Given the description of an element on the screen output the (x, y) to click on. 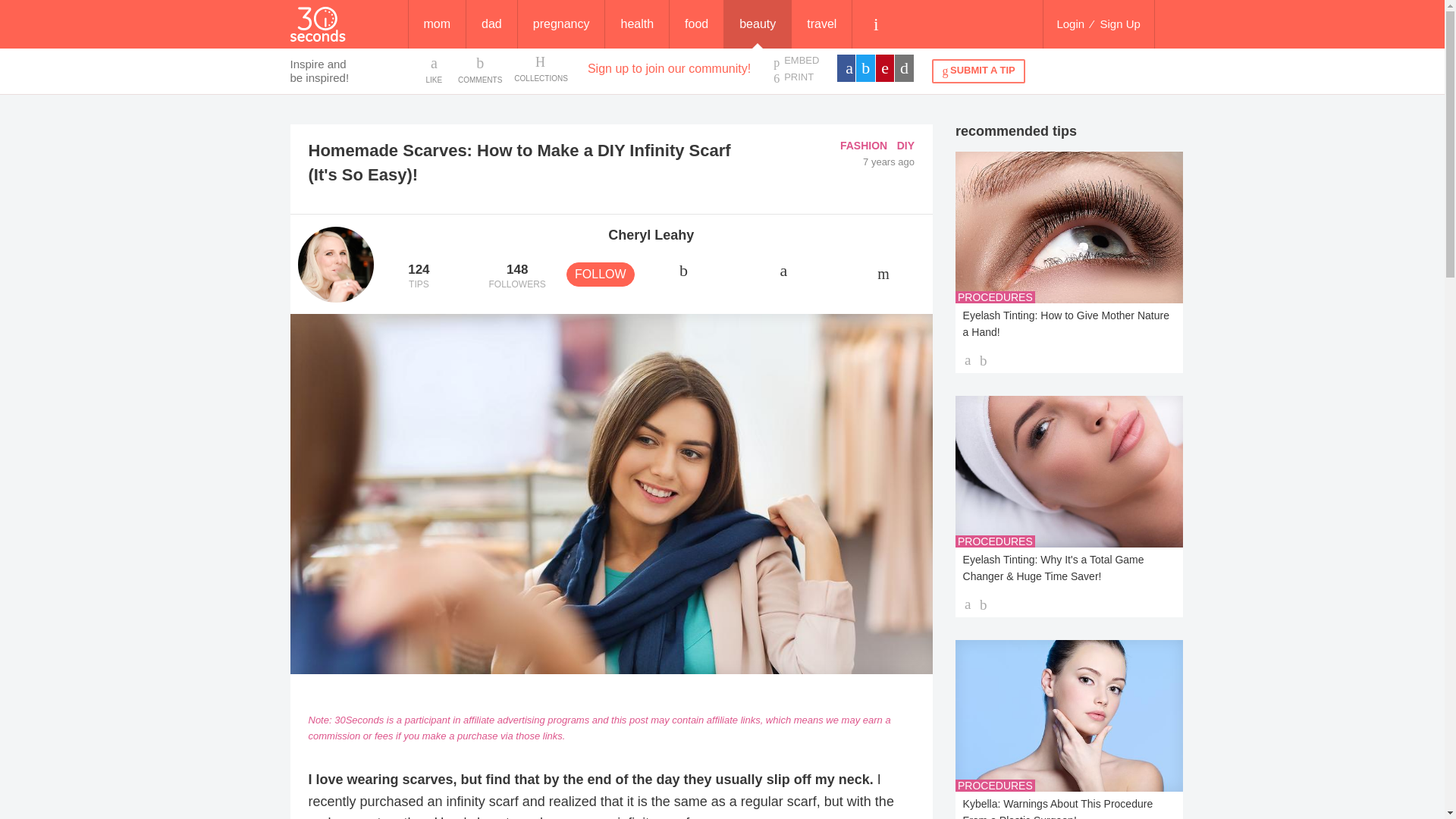
beauty (756, 24)
mom (418, 276)
PRINT (436, 24)
food (516, 276)
pregnancy (795, 77)
health (696, 24)
Cheryl Leahy (561, 24)
COMMENTS (636, 24)
